Given the description of an element on the screen output the (x, y) to click on. 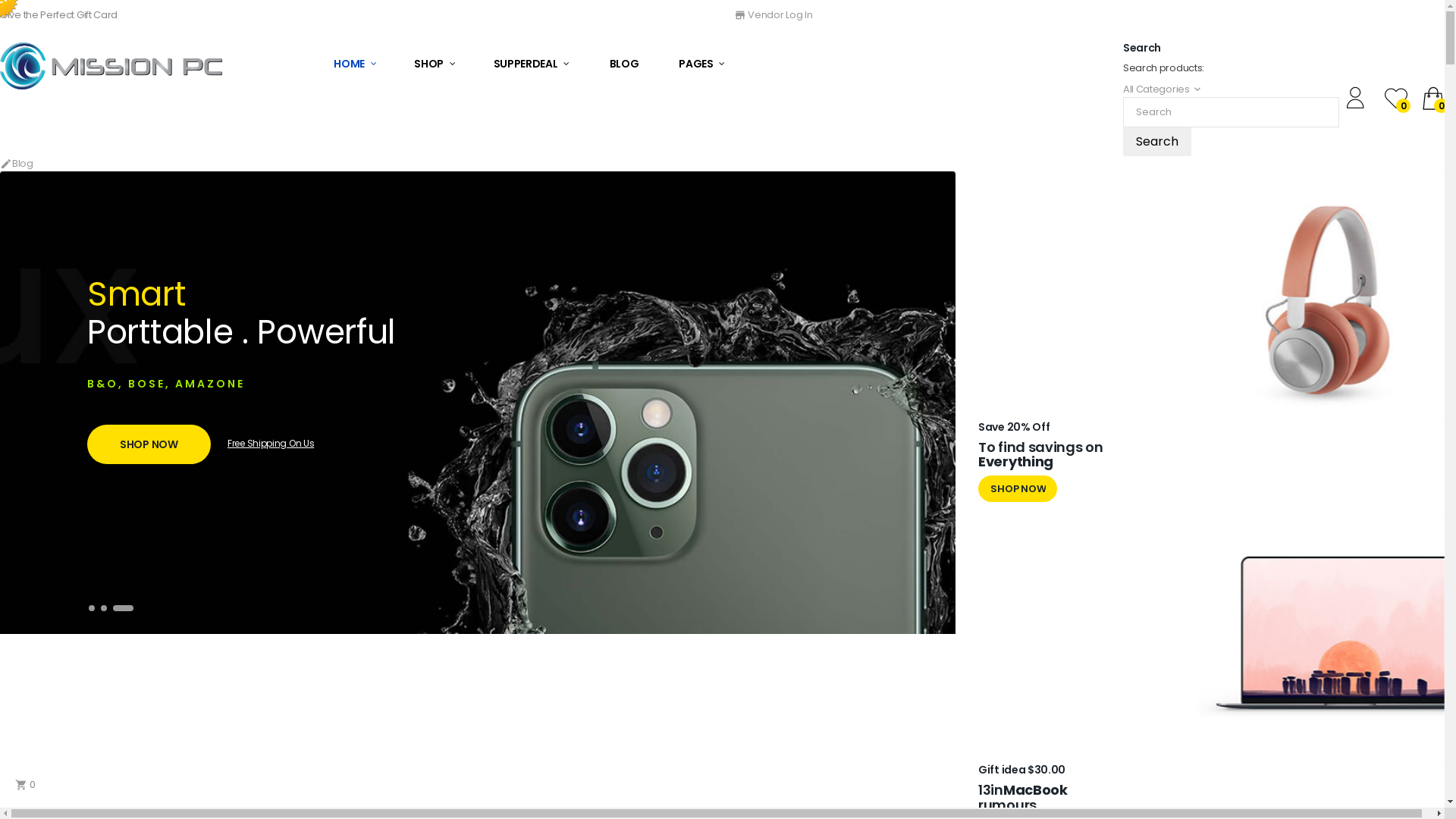
PAGES Element type: text (701, 63)
Setting Element type: hover (1358, 99)
S
H
O
P
N
O
W Element type: text (1017, 488)
All Categories keyboard_arrow_down Element type: text (1163, 88)
SUPPERDEAL Element type: text (531, 63)
BLOG Element type: text (624, 63)
SHOP Element type: text (434, 63)
0 Element type: text (1396, 99)
HOME Element type: text (364, 63)
Search Element type: text (1157, 141)
store Vendor Log In Element type: text (773, 14)
